Given the description of an element on the screen output the (x, y) to click on. 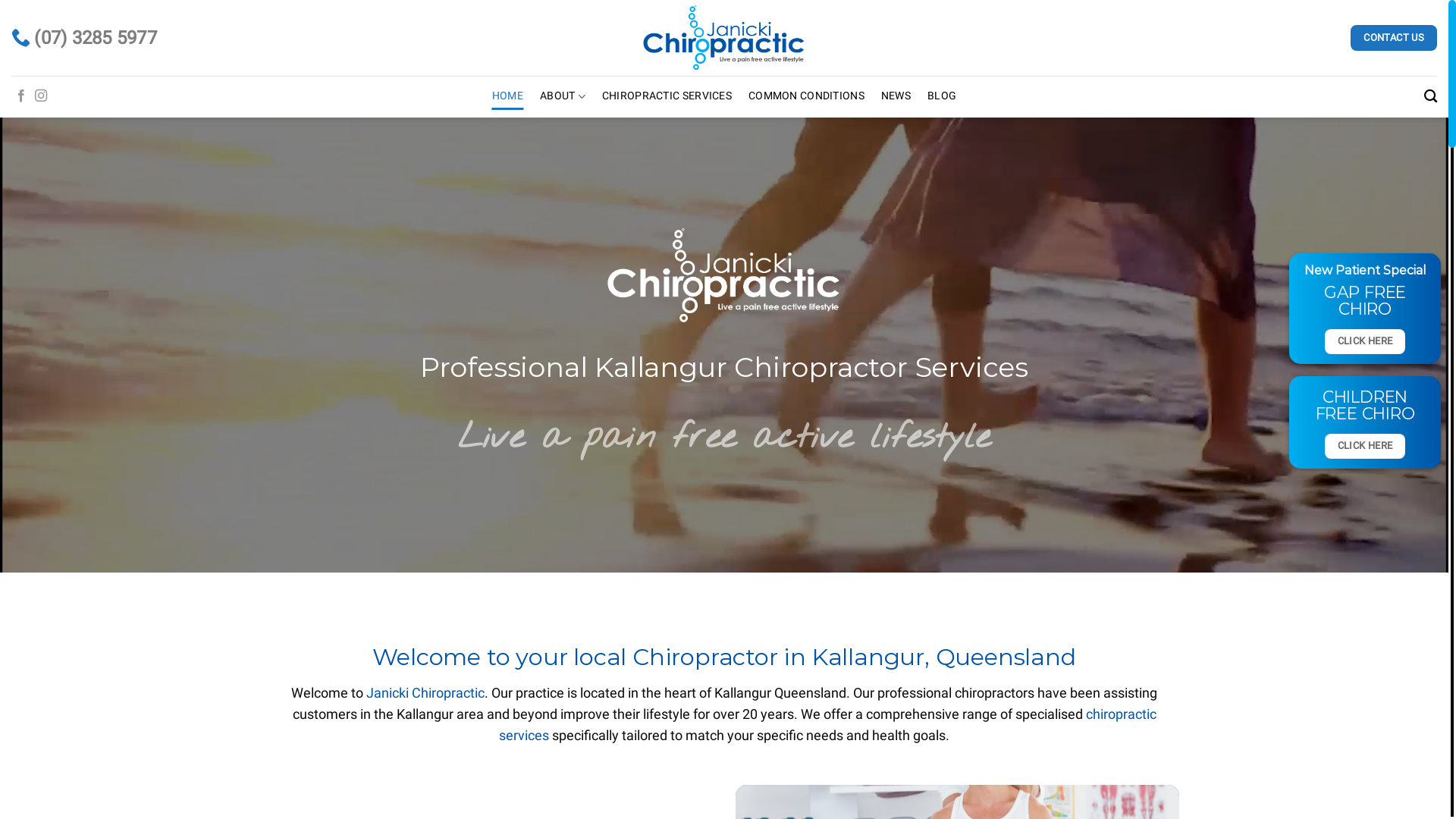
gap Element type: hover (1431, 399)
(07) 3285 5977 Element type: text (83, 37)
Follow on Facebook Element type: hover (21, 96)
Janicki Chiropractic Element type: text (425, 692)
COMMON CONDITIONS Element type: text (806, 95)
children Element type: hover (1431, 418)
NEWS Element type: text (895, 95)
CHIROPRACTIC SERVICES Element type: text (666, 95)
chiropractic services Element type: text (827, 724)
Follow on Instagram Element type: hover (40, 96)
CLICK HERE Element type: text (1364, 341)
CLICK HERE Element type: text (1364, 445)
ABOUT Element type: text (562, 96)
CONTACT US Element type: text (1393, 37)
BLOG Element type: text (941, 95)
HOME Element type: text (507, 95)
